Given the description of an element on the screen output the (x, y) to click on. 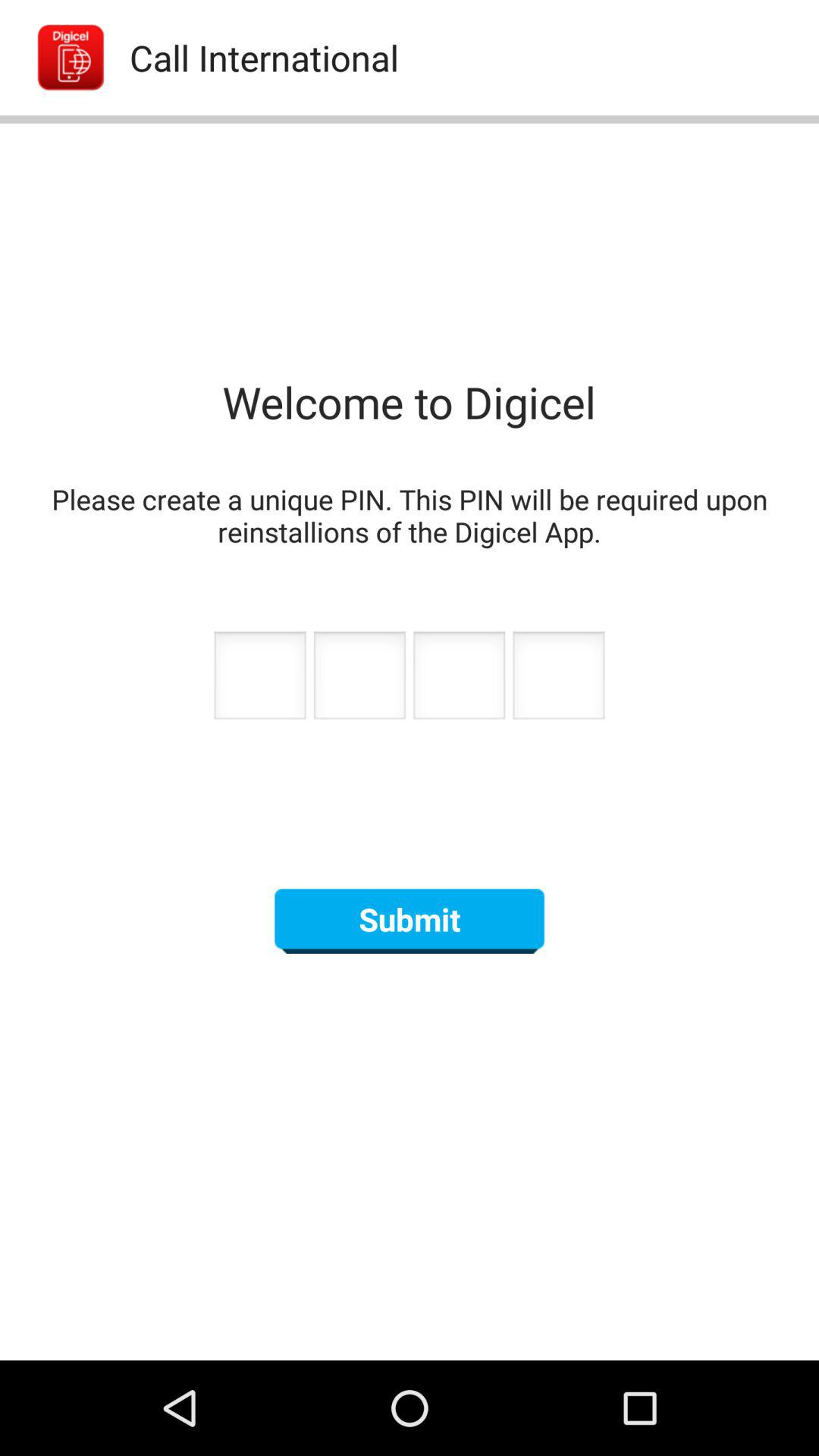
enter digit for pin (259, 679)
